Given the description of an element on the screen output the (x, y) to click on. 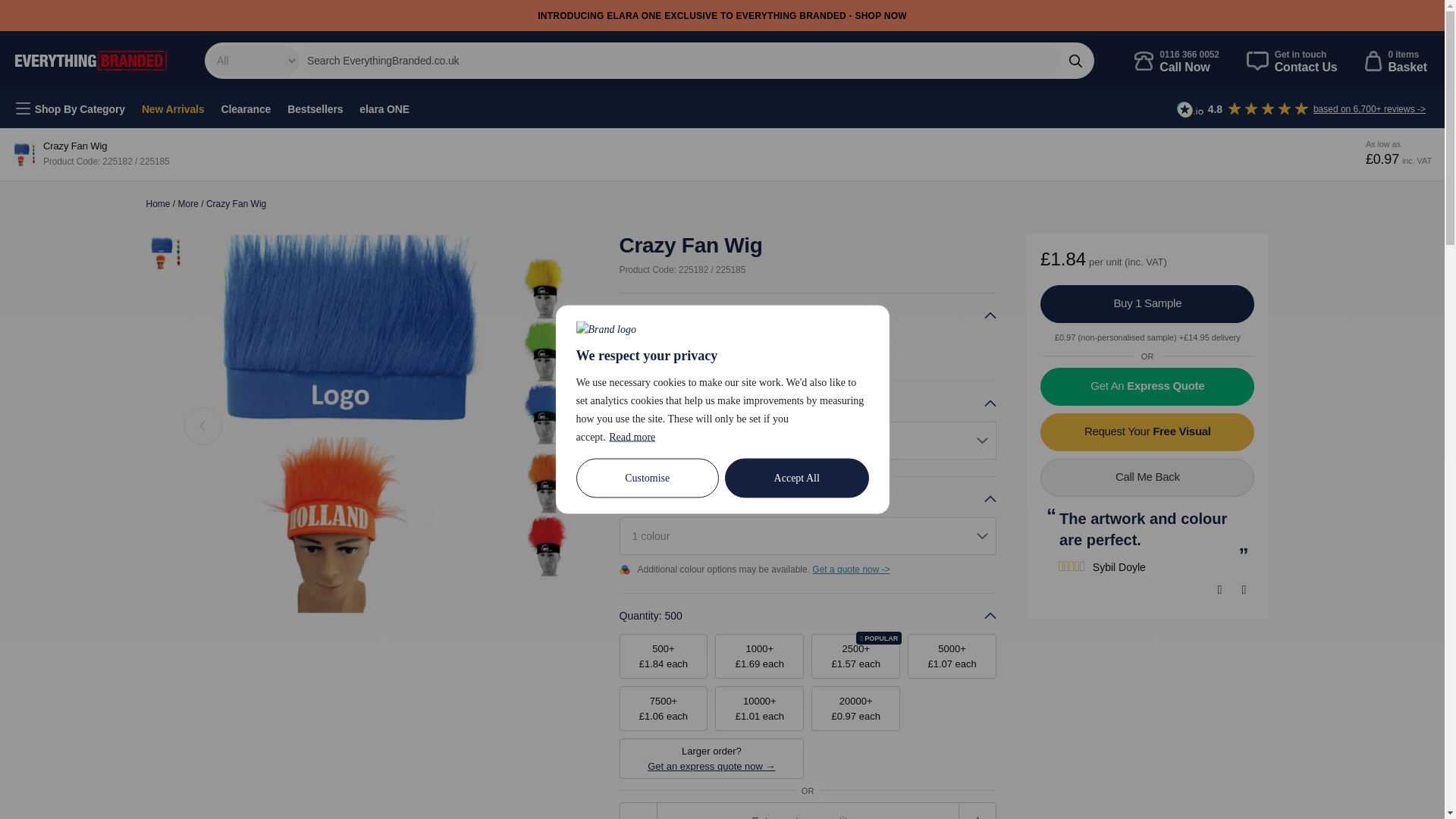
Customise (647, 477)
Accept All (797, 477)
Request Your Free Visual (1147, 432)
Get An Express Quote (1147, 386)
Shop By Category (70, 108)
Submit (1176, 59)
4 (22, 9)
4 Stars (187, 204)
7 (1071, 565)
